Given the description of an element on the screen output the (x, y) to click on. 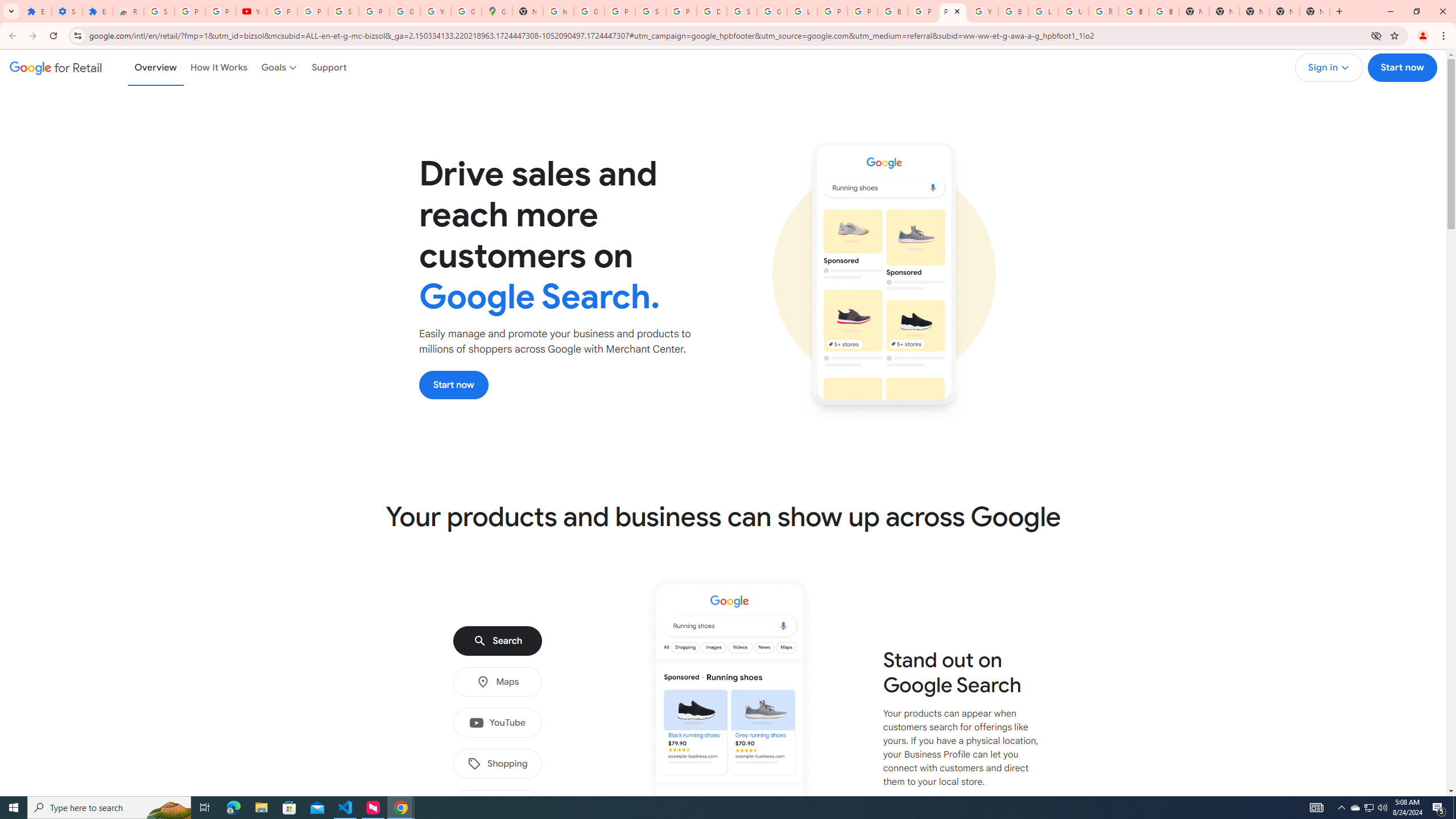
How It Works (218, 67)
New Tab (1314, 11)
Reviews: Helix Fruit Jump Arcade Game (127, 11)
Extensions (36, 11)
